Given the description of an element on the screen output the (x, y) to click on. 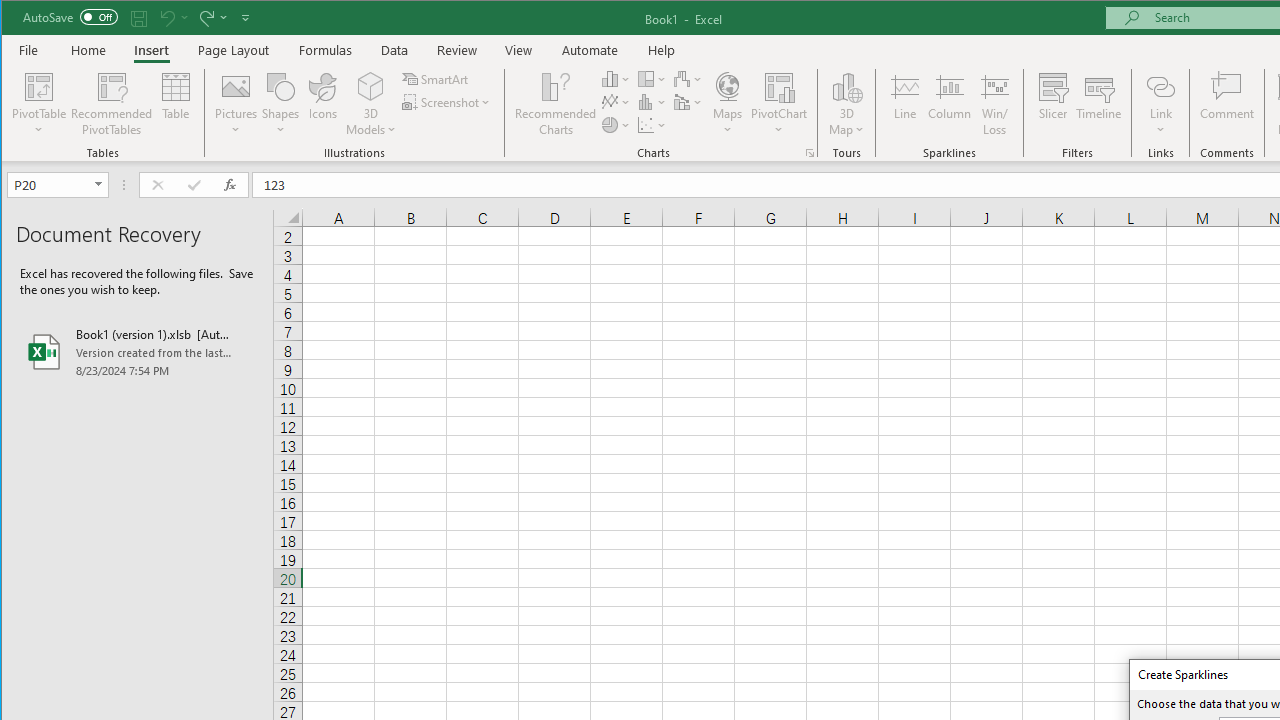
Icons (323, 104)
3D Map (846, 86)
Home (88, 50)
Table (175, 104)
File Tab (29, 49)
Recommended PivotTables (111, 104)
Quick Access Toolbar (137, 17)
3D Models (371, 104)
Review (456, 50)
Insert Statistic Chart (652, 101)
Customize Quick Access Toolbar (245, 17)
